Given the description of an element on the screen output the (x, y) to click on. 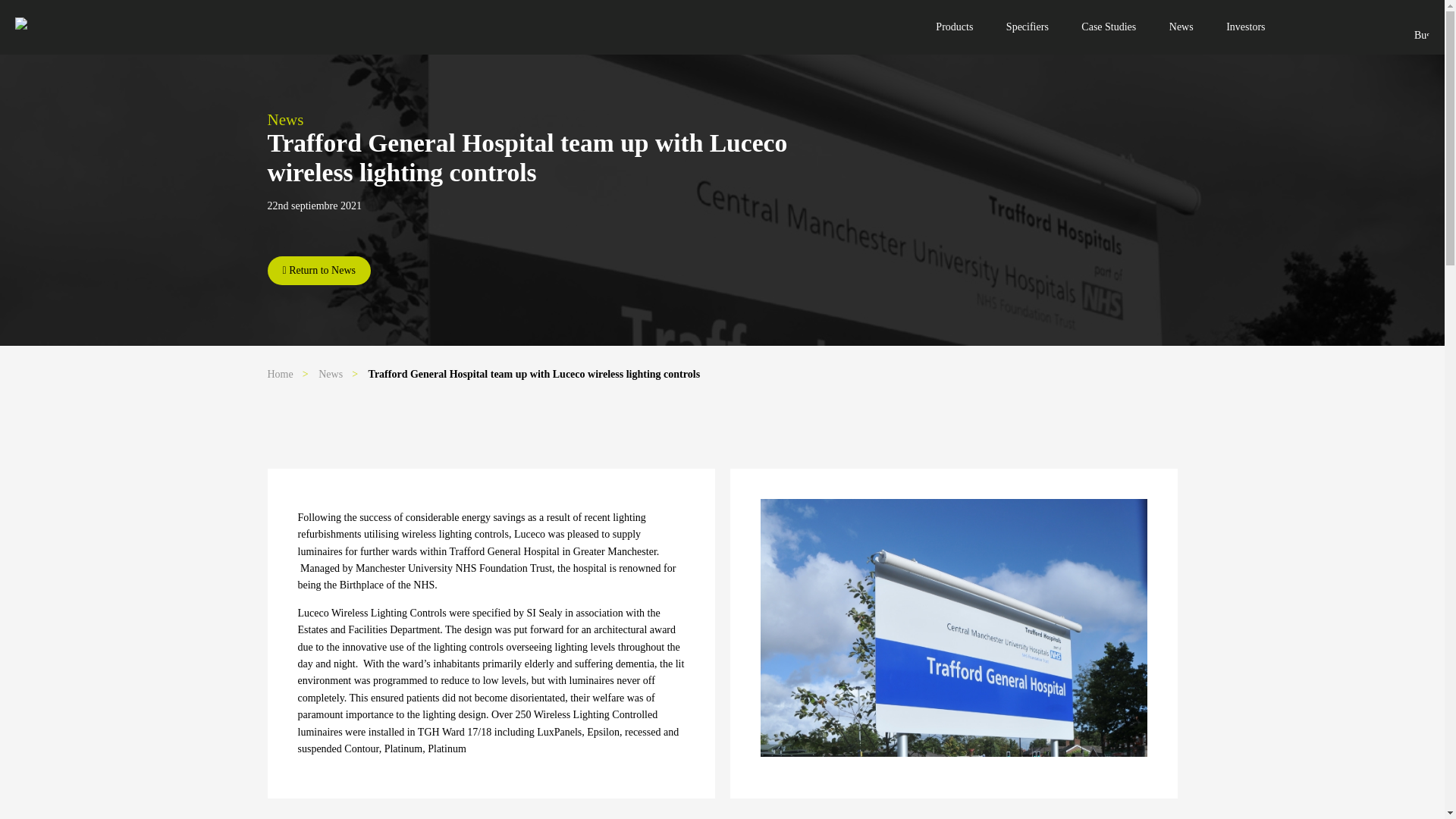
Buscar (1414, 30)
News (1181, 27)
Investors (1245, 27)
Return to News (318, 270)
Home (279, 374)
Buscar (1414, 30)
Case Studies (1108, 27)
Products (954, 27)
Specifiers (1027, 27)
News (330, 374)
